Given the description of an element on the screen output the (x, y) to click on. 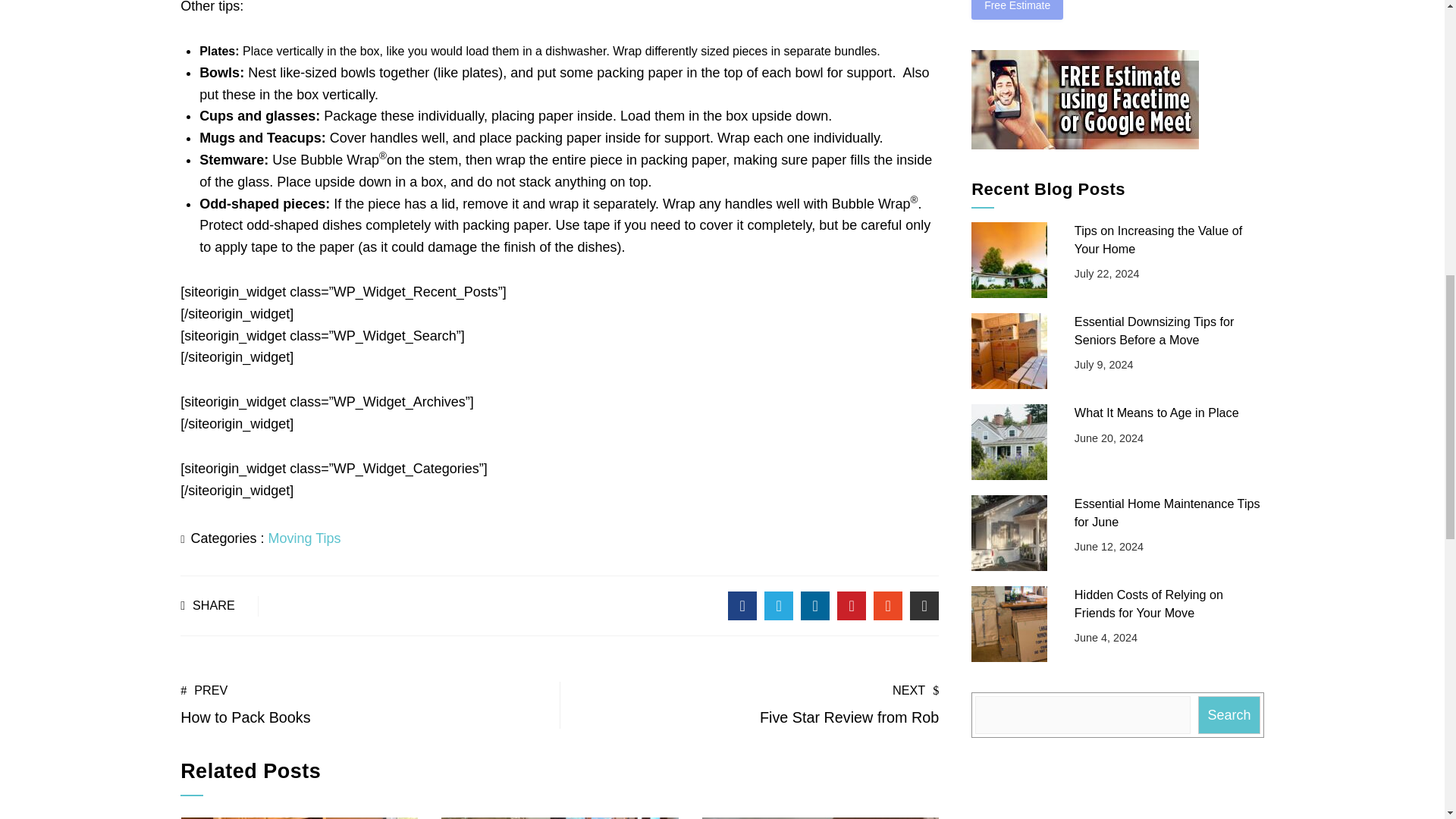
Free Estimate (1016, 9)
